Given the description of an element on the screen output the (x, y) to click on. 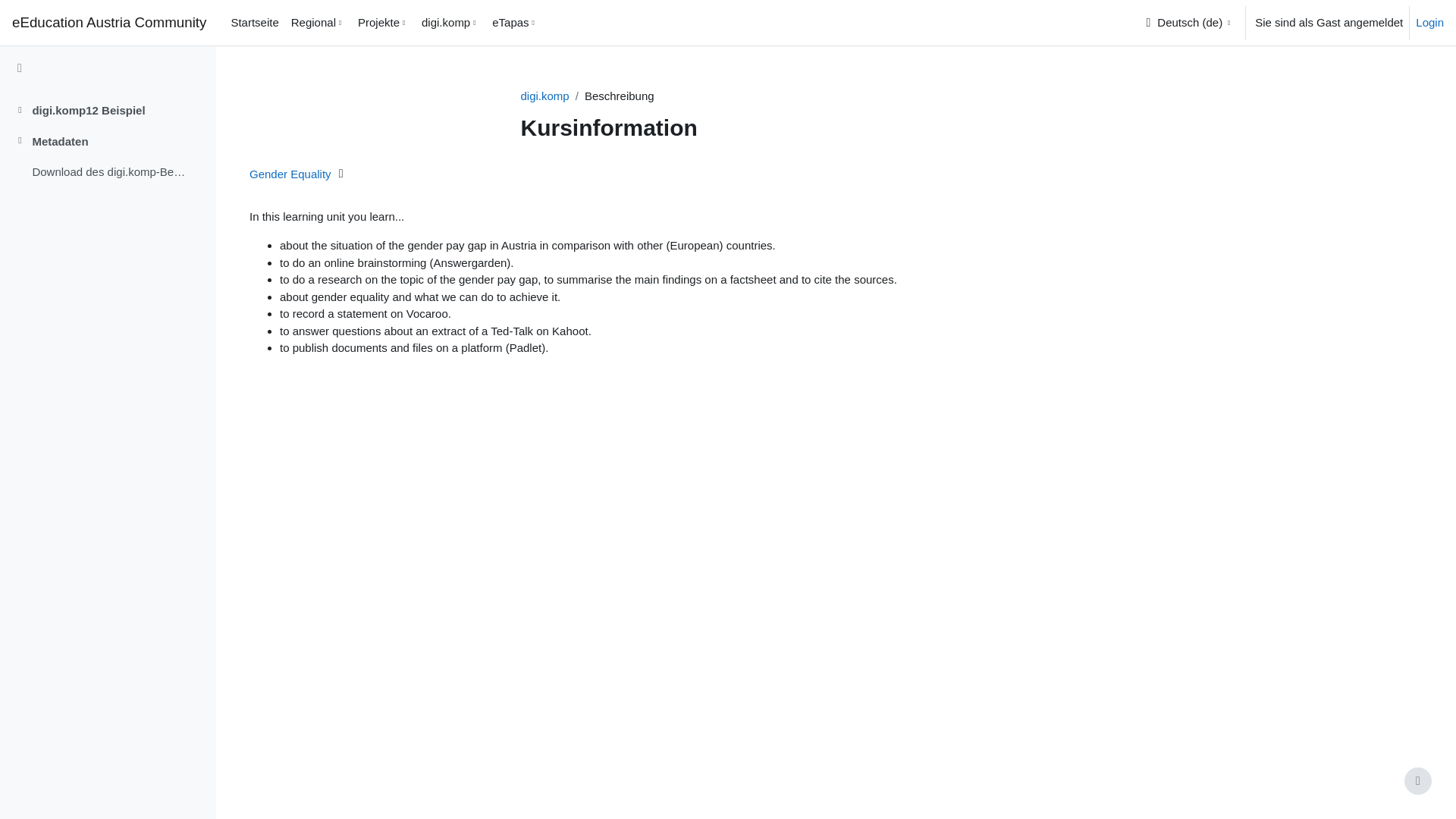
Projekte (383, 22)
Startseite (253, 22)
Einklappen (19, 141)
eTapas (515, 22)
eEducation Austria Community (108, 22)
digi.komp (450, 22)
Gastzugang (340, 173)
Login (1429, 22)
Regional (318, 22)
Einklappen (19, 111)
